Given the description of an element on the screen output the (x, y) to click on. 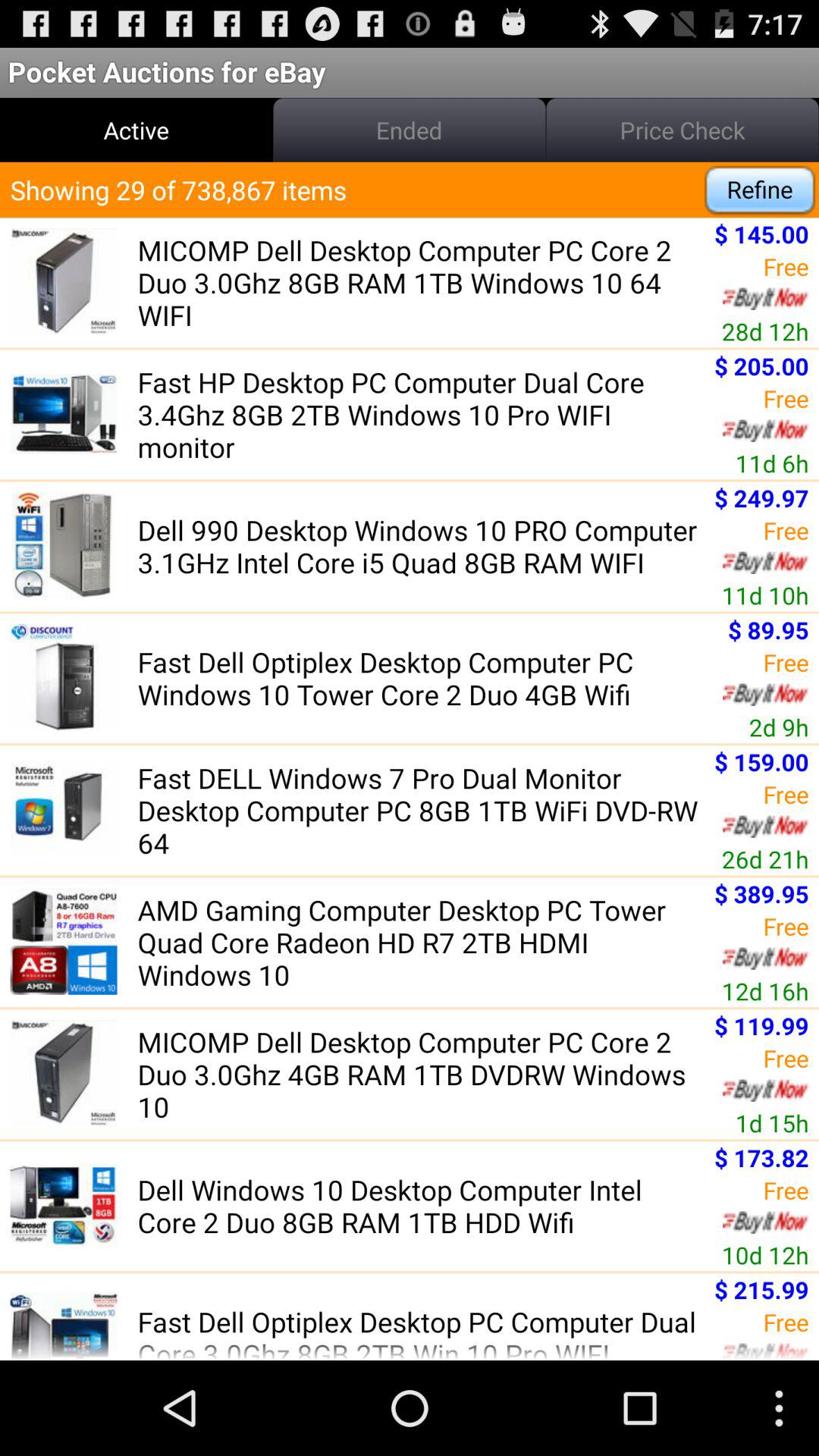
press item above the $ 205.00 app (764, 331)
